Given the description of an element on the screen output the (x, y) to click on. 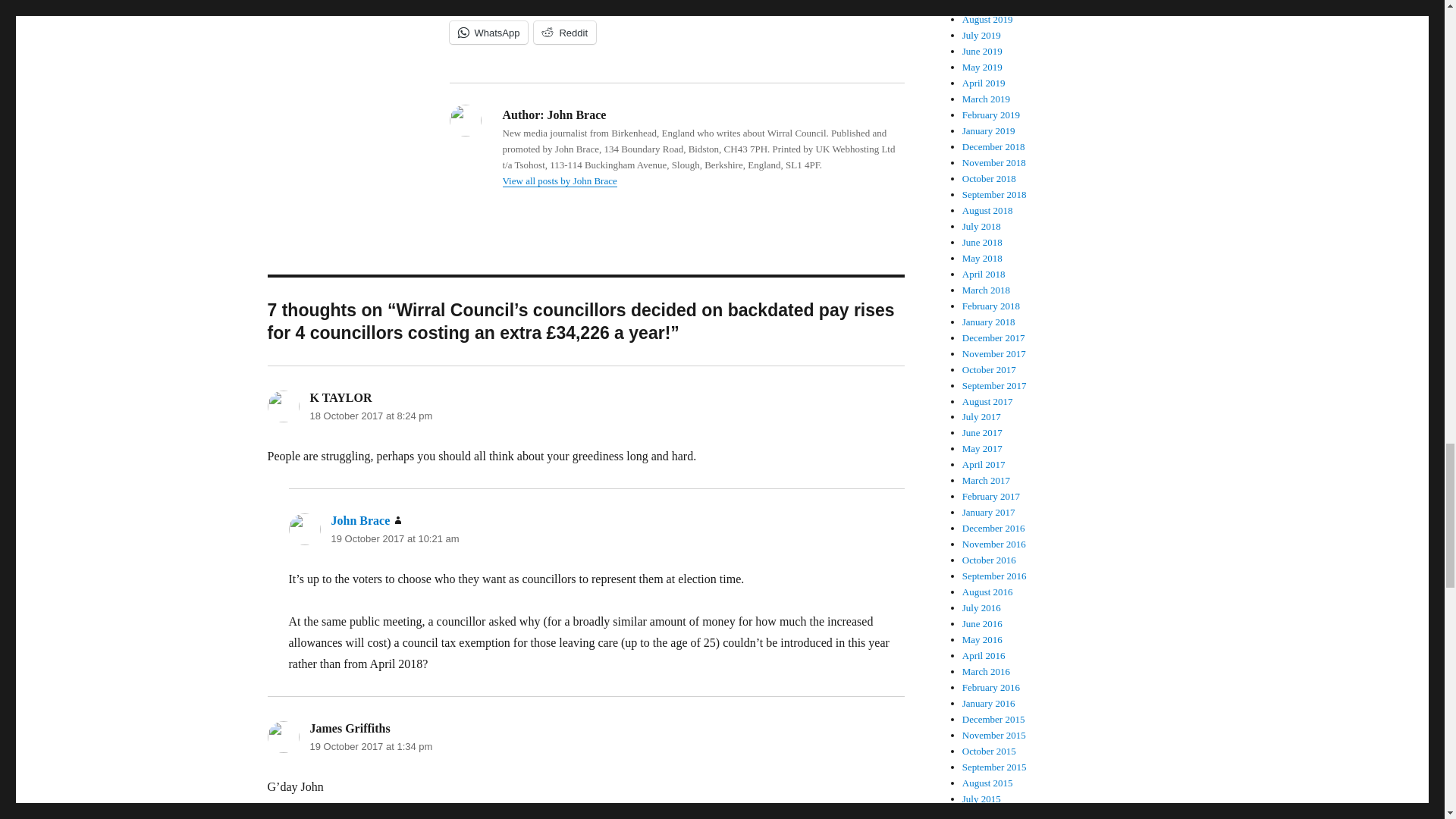
Click to share on Twitter (563, 6)
LinkedIn (635, 6)
Click to share on Tumblr (709, 6)
View all posts by John Brace (558, 180)
Click to print (773, 6)
Print (773, 6)
Facebook (486, 6)
Reddit (564, 32)
Tumblr (709, 6)
Click to share on Reddit (564, 32)
